Given the description of an element on the screen output the (x, y) to click on. 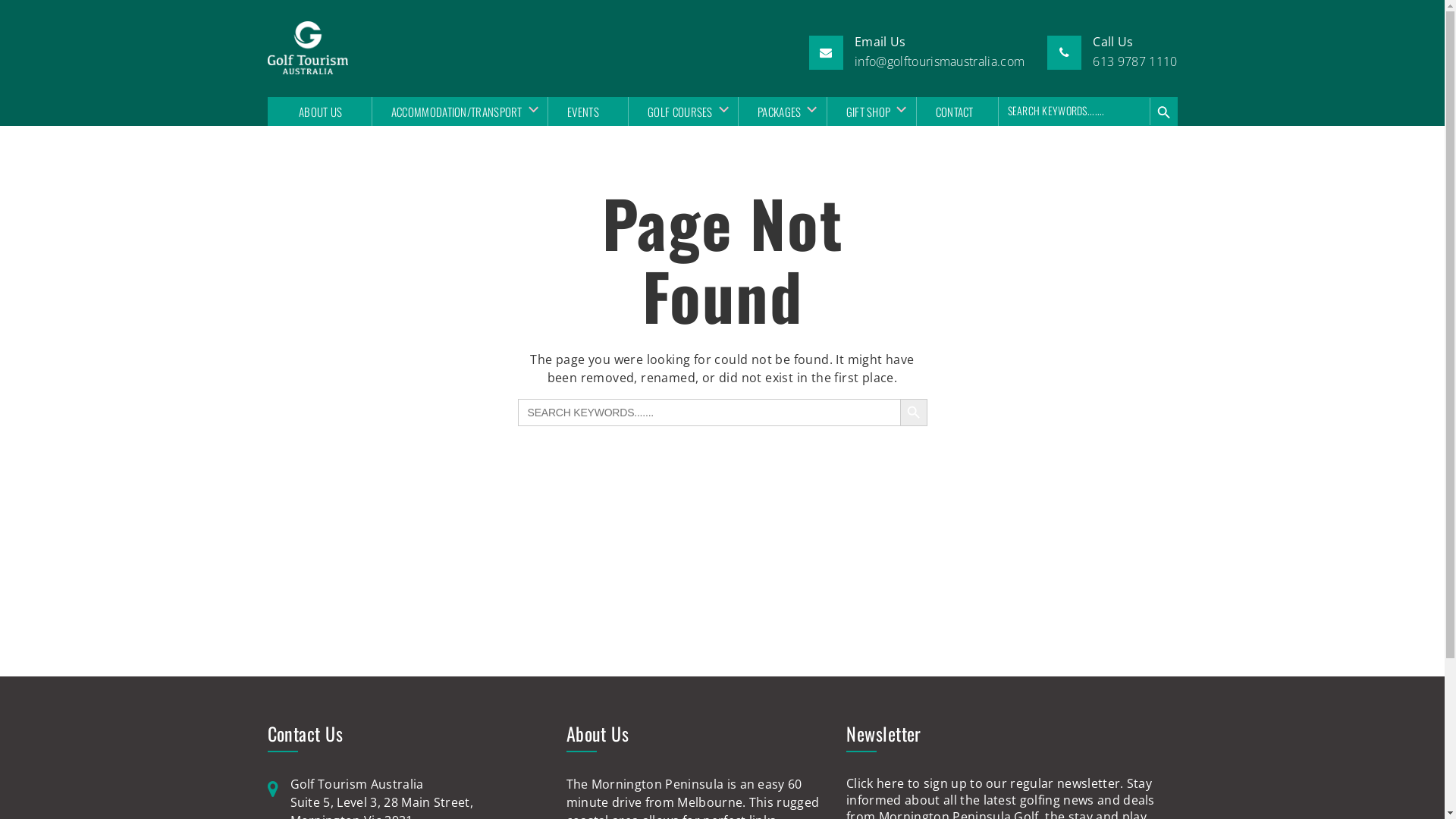
CONTACT Element type: text (954, 111)
GIFT SHOP Element type: text (866, 111)
EVENTS Element type: text (582, 111)
Call Us
613 9787 1110 Element type: text (1134, 51)
SEARCH BUTTON Element type: text (912, 412)
PACKAGES Element type: text (776, 111)
GOLF COURSES Element type: text (677, 111)
ABOUT US Element type: text (319, 111)
Email Us
info@golftourismaustralia.com Element type: text (939, 51)
ACCOMMODATION/TRANSPORT Element type: text (454, 111)
